Given the description of an element on the screen output the (x, y) to click on. 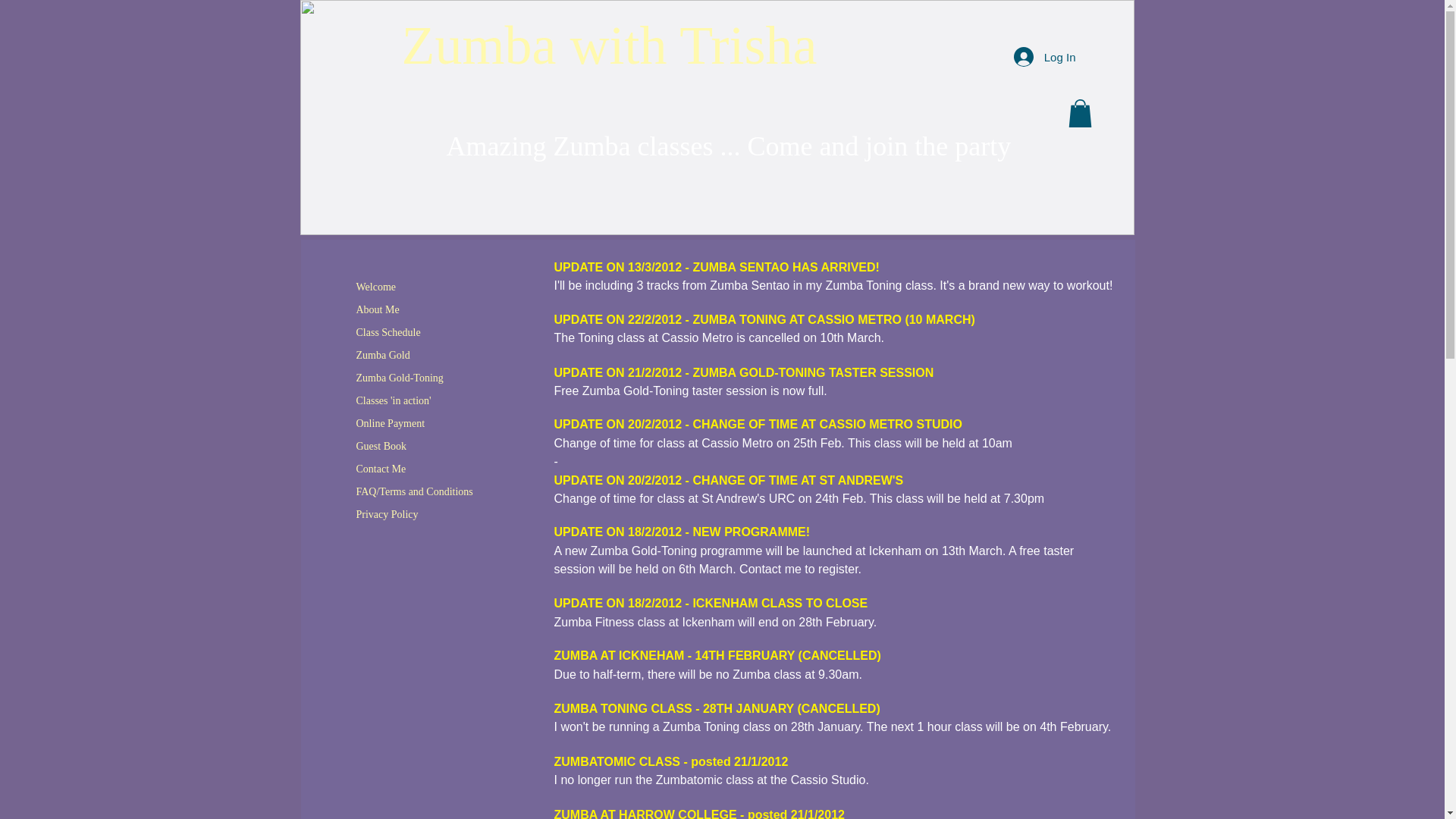
Contact Me (381, 468)
Welcome (376, 286)
Privacy Policy (387, 514)
Classes 'in action' (394, 400)
Zumba Gold-Toning (400, 377)
Log In (1044, 56)
Zumba Gold (383, 354)
Online Payment (390, 423)
Class Schedule (388, 332)
Guest Book (381, 445)
